Given the description of an element on the screen output the (x, y) to click on. 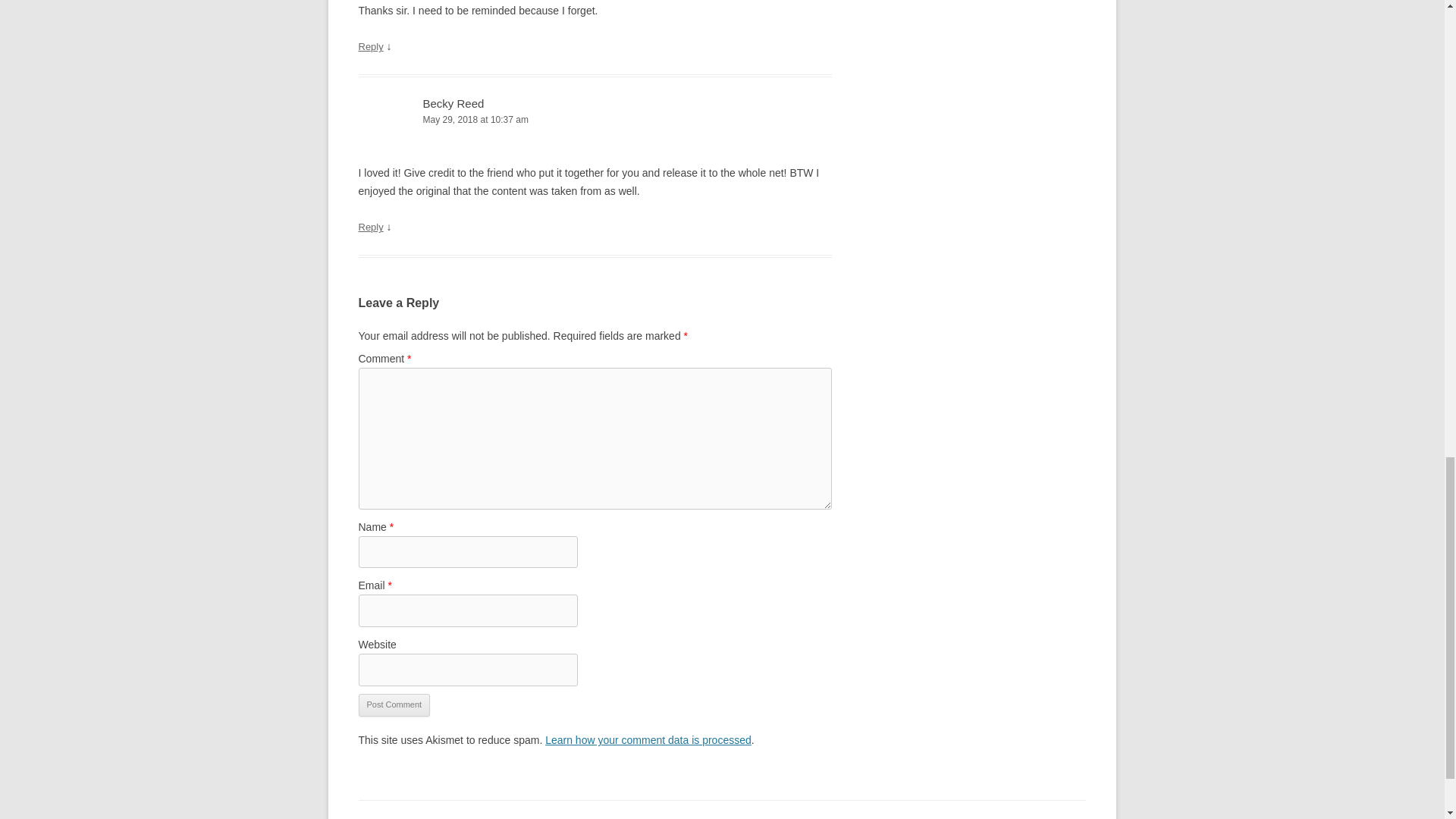
Learn how your comment data is processed (647, 739)
Post Comment (393, 704)
Post Comment (393, 704)
Reply (370, 226)
Reply (370, 46)
May 29, 2018 at 10:37 am (594, 119)
